Given the description of an element on the screen output the (x, y) to click on. 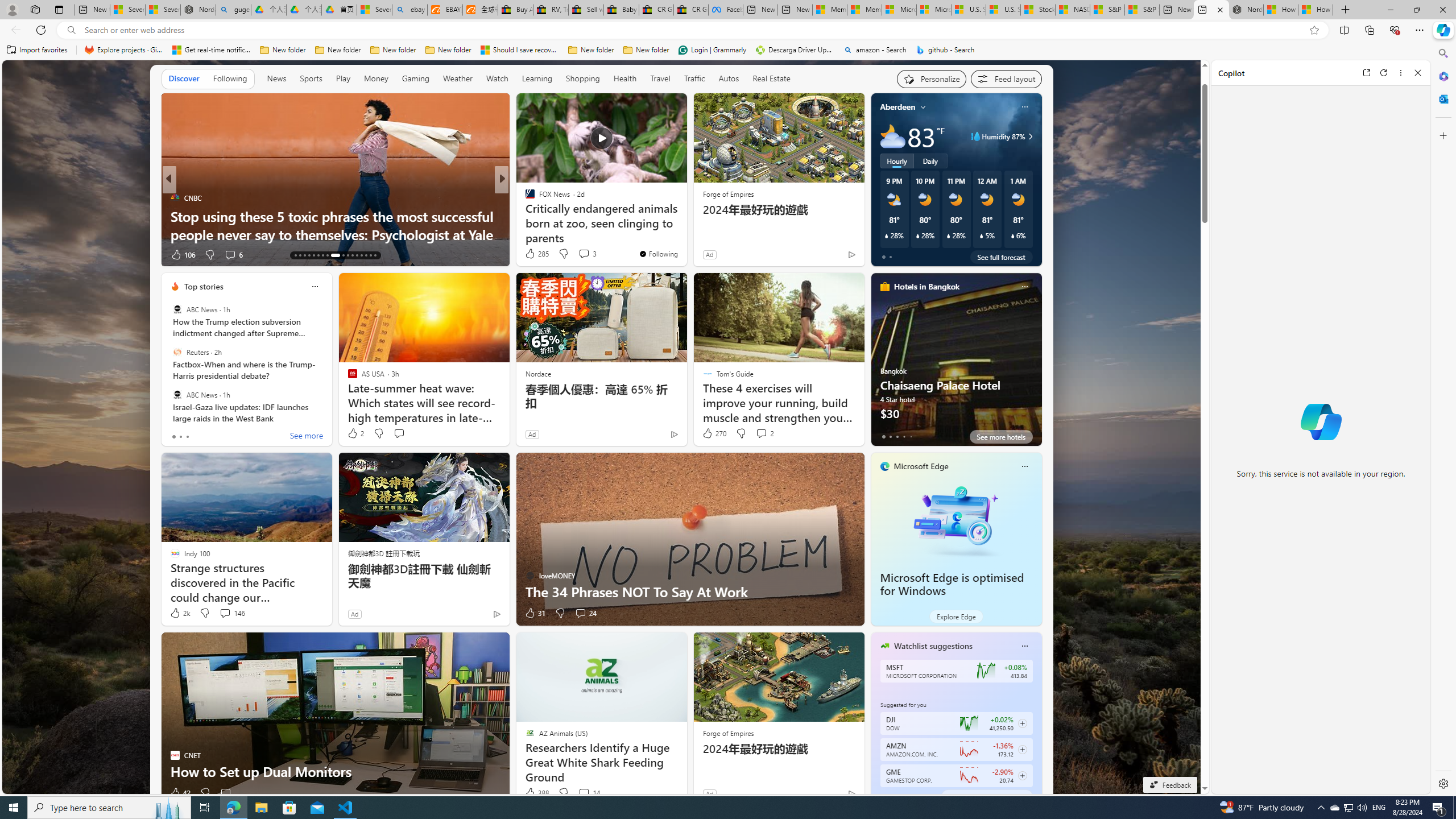
View comments 1 Comment (575, 254)
View comments 24 Comment (580, 613)
Reuters (176, 352)
Buy Auto Parts & Accessories | eBay (515, 9)
View comments 167 Comment (576, 254)
Travel (660, 79)
Animals Around The Globe (US) (524, 215)
Real Estate (771, 79)
Largest Timber Rattlesnake Ever Recorded (684, 234)
AutomationID: tab-18 (317, 255)
Storyful (524, 197)
